Given the description of an element on the screen output the (x, y) to click on. 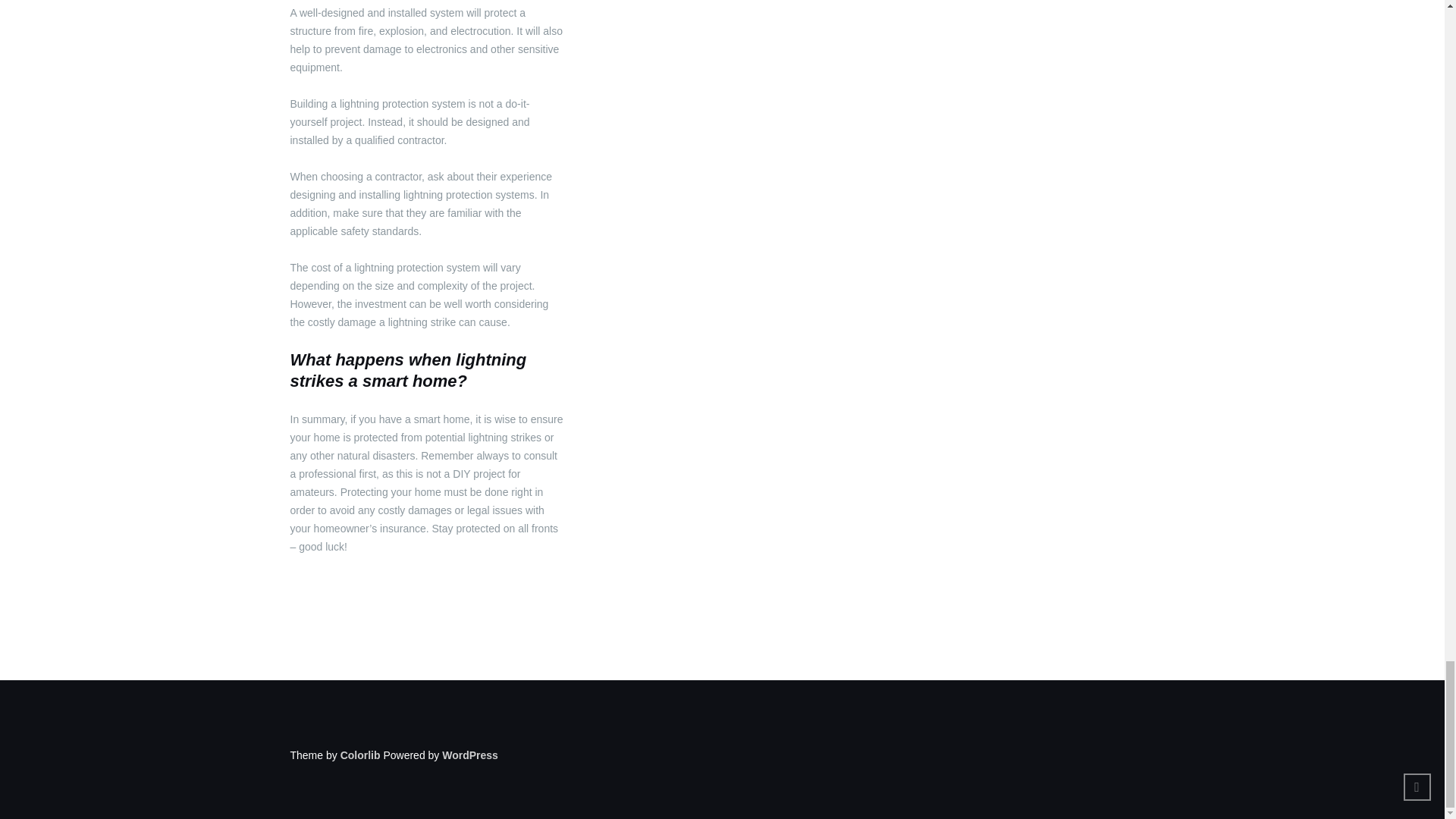
Colorlib (360, 755)
WordPress.org (469, 755)
